Given the description of an element on the screen output the (x, y) to click on. 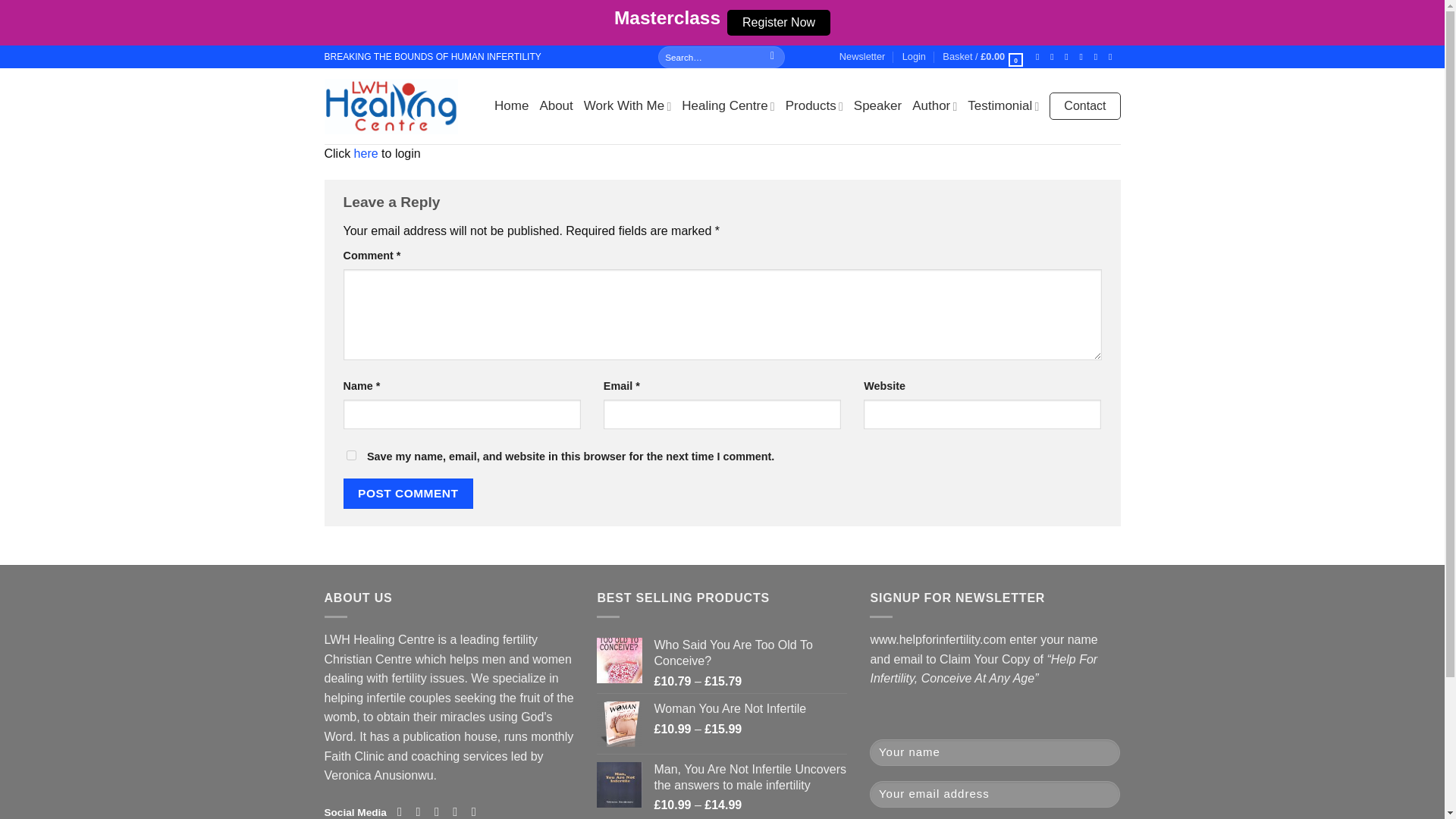
Claim Your Free Special Report (862, 56)
Newsletter (862, 56)
Basket (983, 56)
Follow on Facebook (403, 811)
Speaker (877, 105)
Post Comment (407, 492)
Testimonial (1003, 106)
Search (772, 56)
yes (350, 455)
Work With Me (627, 106)
Login (914, 56)
Products (814, 106)
Home (511, 105)
Follow on Instagram (421, 811)
About (555, 105)
